Given the description of an element on the screen output the (x, y) to click on. 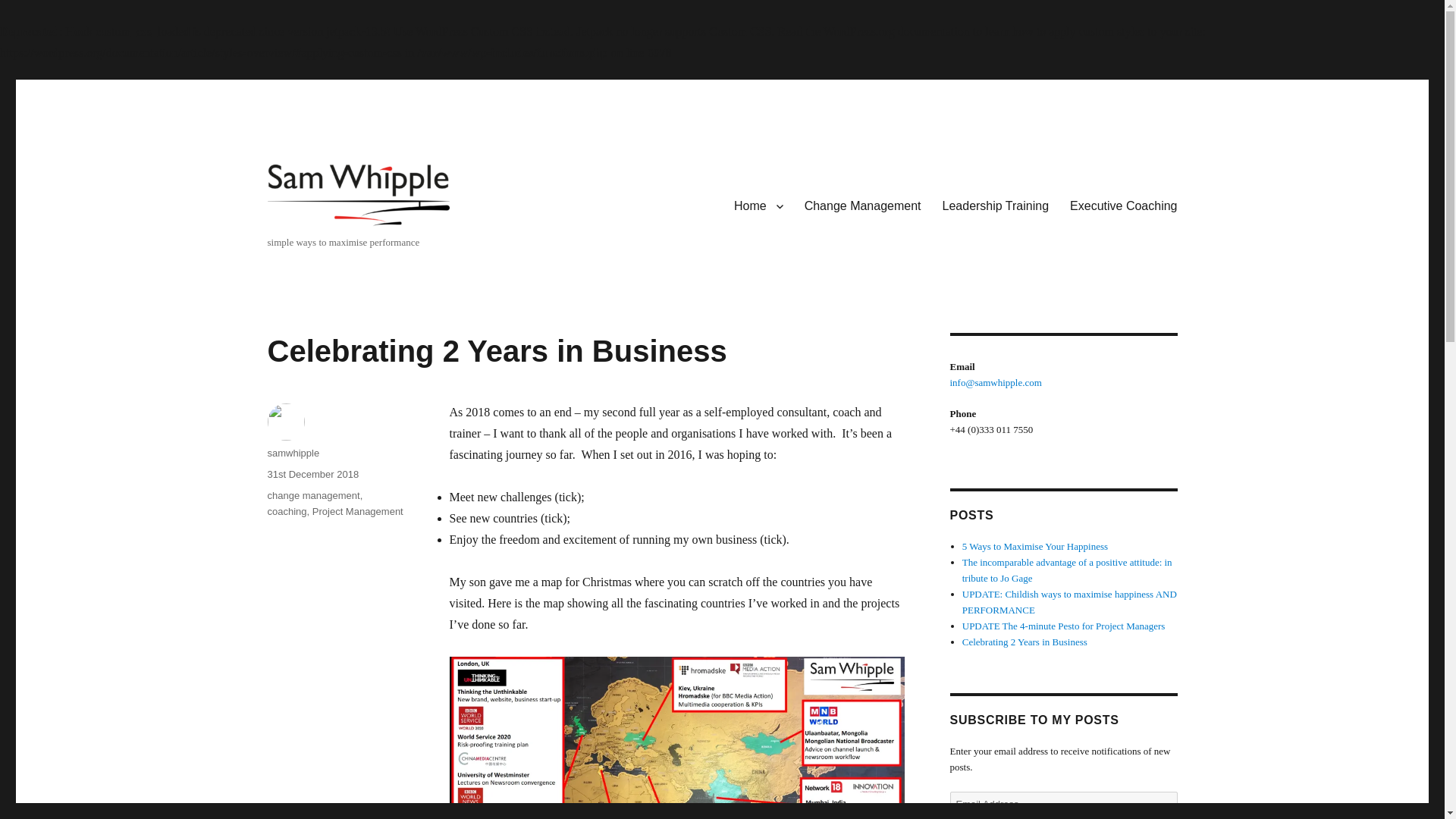
Project Management (358, 511)
UPDATE The 4-minute Pesto for Project Managers (1064, 625)
Home (758, 205)
UPDATE: Childish ways to maximise happiness AND PERFORMANCE (1069, 601)
Change Management (862, 205)
Executive Coaching (1123, 205)
change management (312, 495)
samwhipple (292, 452)
Celebrating 2 Years in Business (1024, 641)
Leadership Training (995, 205)
5 Ways to Maximise Your Happiness (1035, 546)
31st December 2018 (312, 473)
coaching (285, 511)
